Given the description of an element on the screen output the (x, y) to click on. 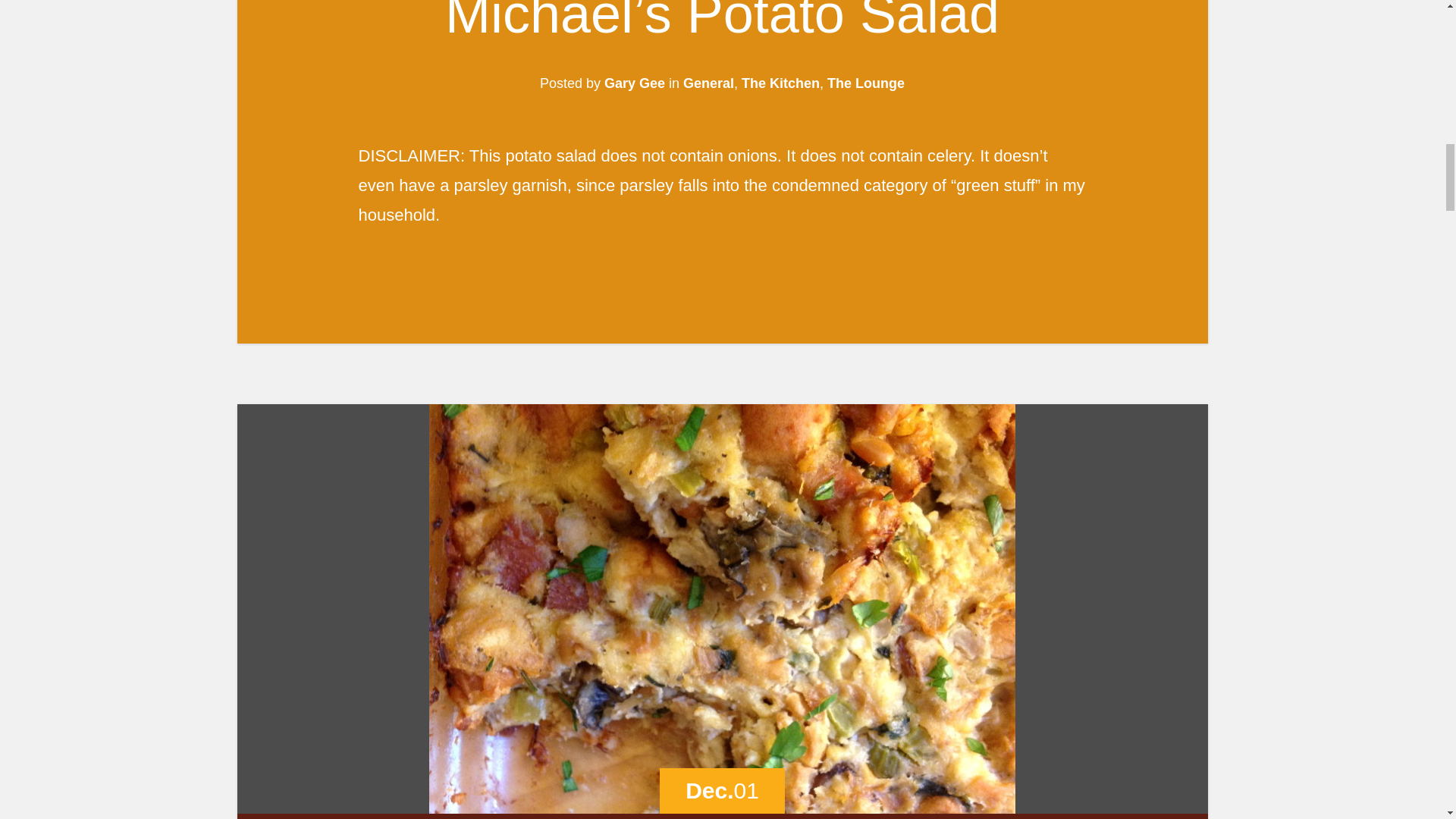
General (707, 83)
The Lounge (865, 83)
The Kitchen (780, 83)
Gary Gee (634, 83)
Posts by Gary Gee (634, 83)
